Given the description of an element on the screen output the (x, y) to click on. 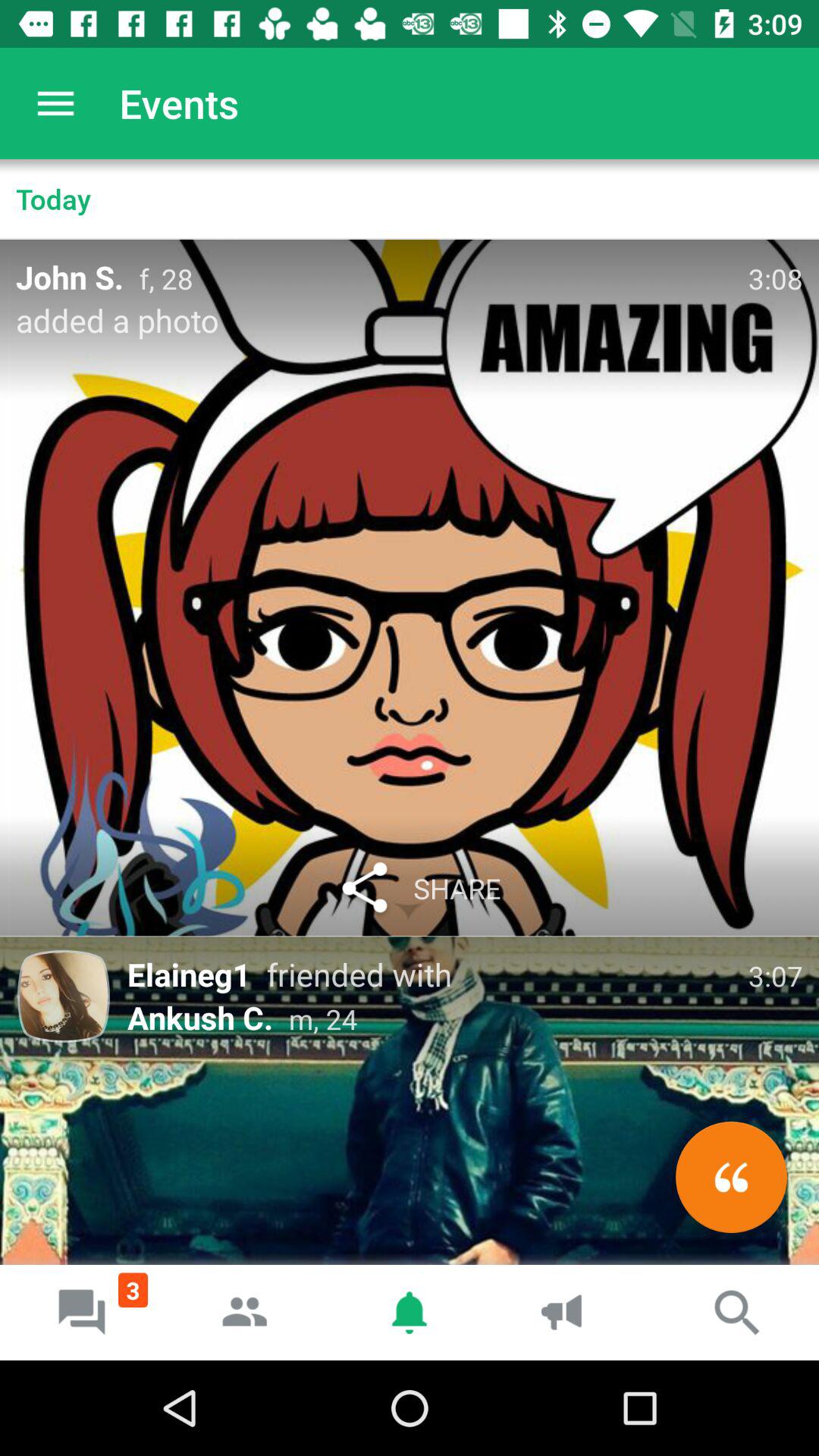
write note (731, 1177)
